Given the description of an element on the screen output the (x, y) to click on. 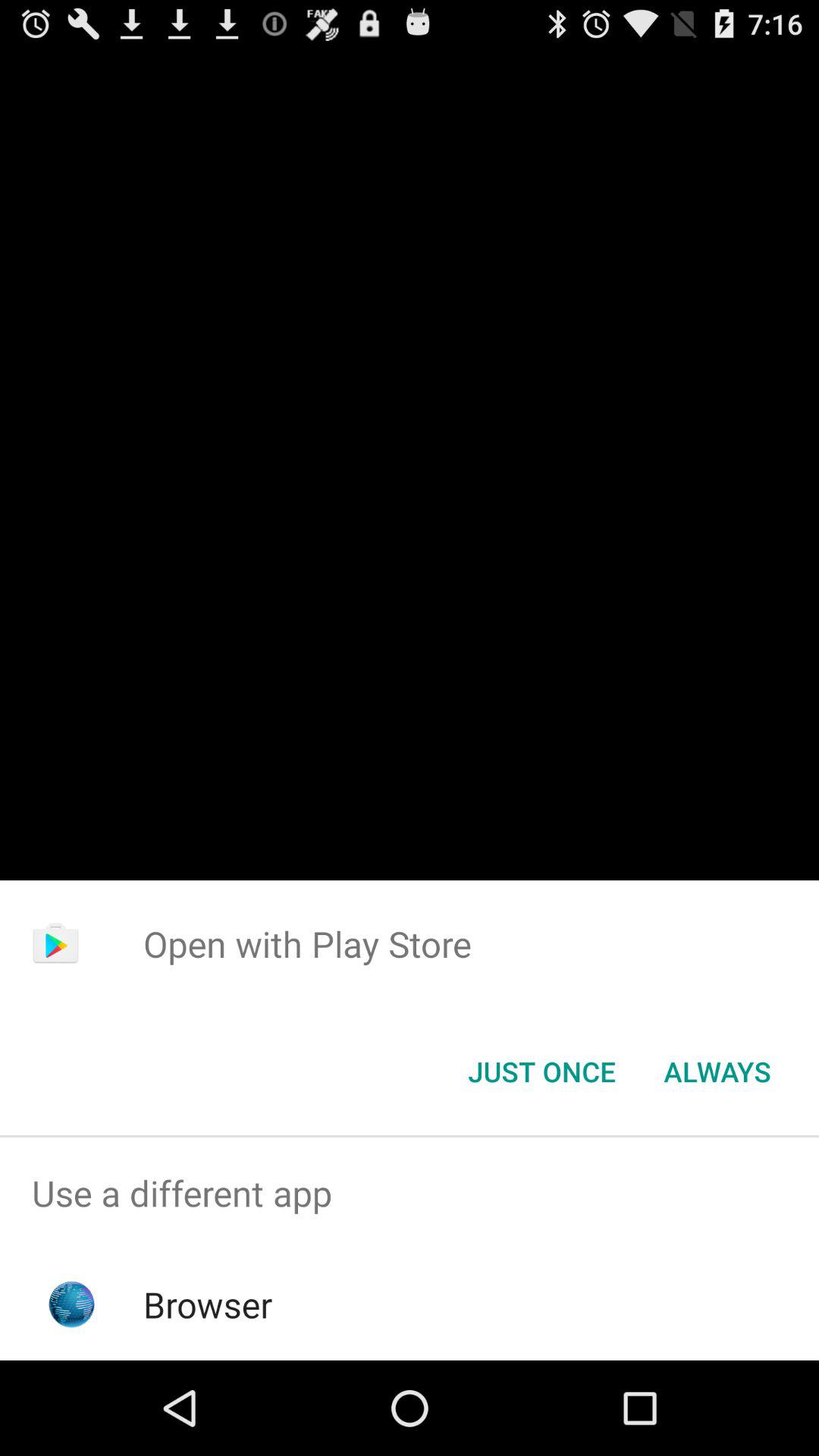
open app below use a different (207, 1304)
